Given the description of an element on the screen output the (x, y) to click on. 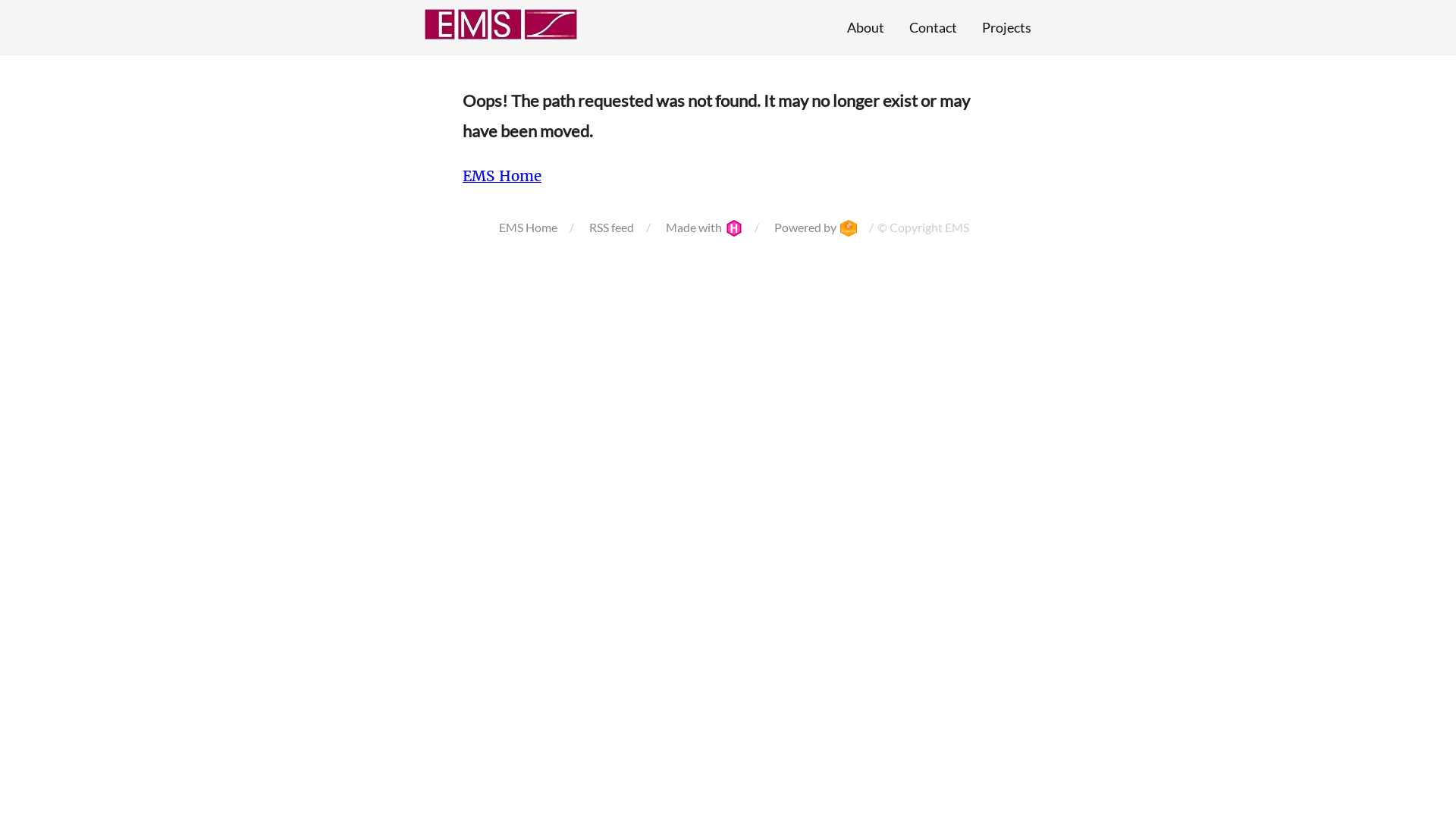
Contact Element type: text (933, 26)
Projects Element type: text (1006, 26)
About Element type: text (865, 26)
Made with Element type: text (703, 226)
EMS Home Element type: text (527, 226)
EMS Home Element type: text (501, 175)
RSS feed Element type: text (610, 226)
Powered by Element type: text (814, 226)
